Given the description of an element on the screen output the (x, y) to click on. 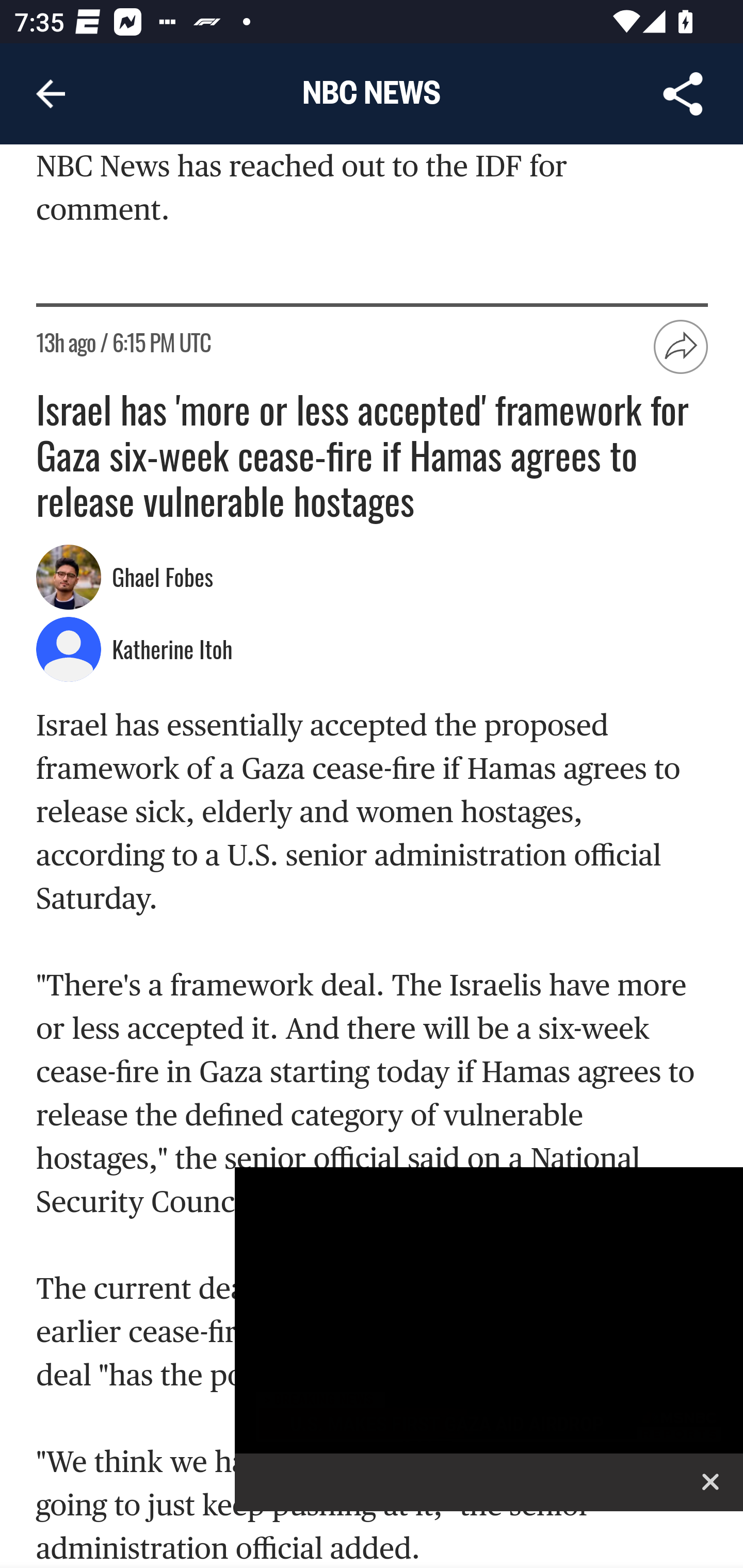
Navigate up (50, 93)
Share Article, button (683, 94)
open social share icon list (681, 347)
ghael-fobes-ncpn1300094 (69, 578)
Ghael Fobes (165, 578)
